Given the description of an element on the screen output the (x, y) to click on. 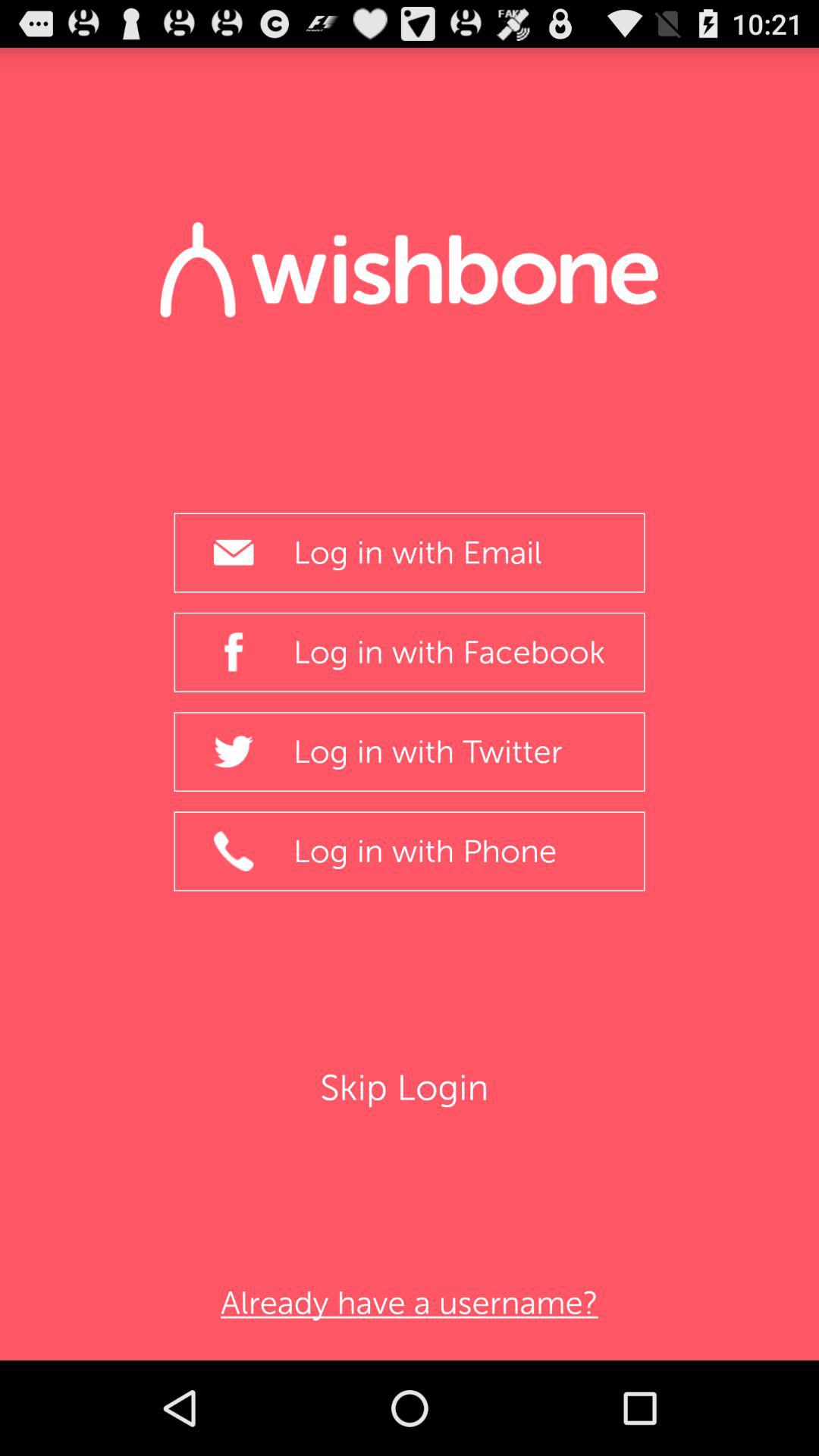
launch already have a (409, 1302)
